Given the description of an element on the screen output the (x, y) to click on. 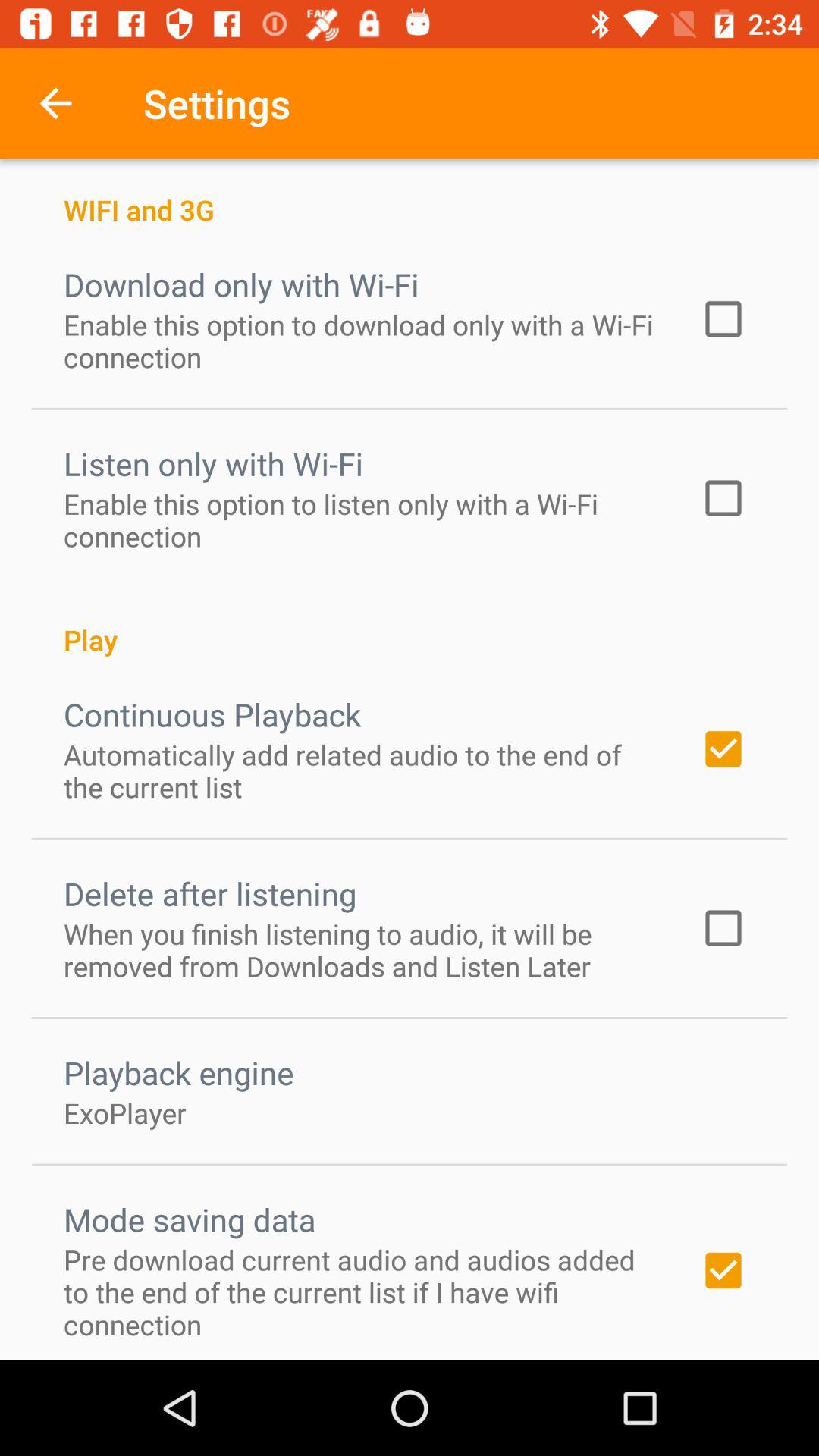
launch icon below enable this option (409, 623)
